Given the description of an element on the screen output the (x, y) to click on. 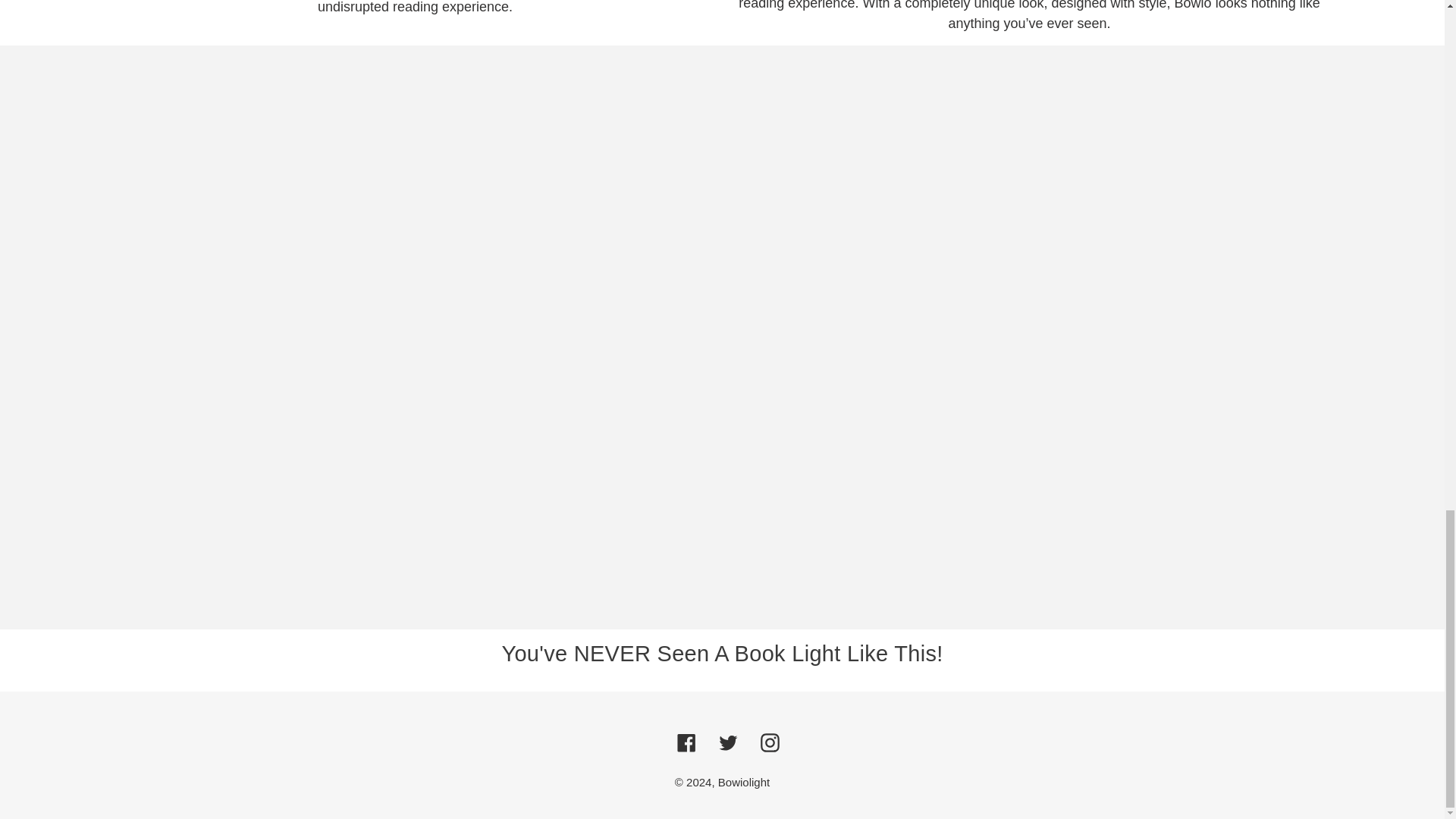
Bowiolight (743, 781)
Twitter (728, 742)
Facebook (686, 742)
Instagram (769, 742)
